Given the description of an element on the screen output the (x, y) to click on. 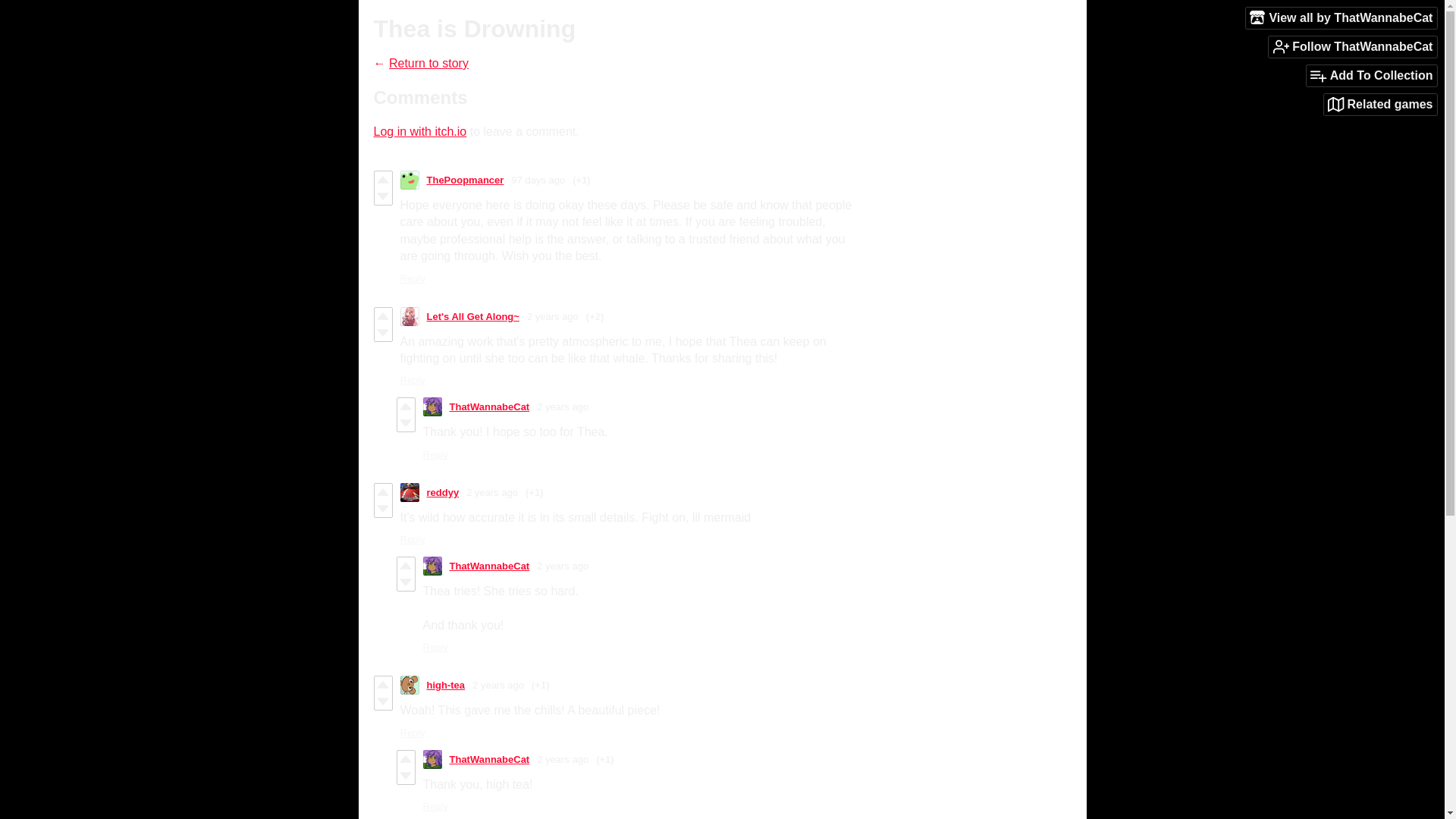
Reply (435, 454)
2 years ago (491, 491)
Follow ThatWannabeCat (1352, 46)
Vote down (382, 196)
View all by ThatWannabeCat (1340, 17)
Vote down (382, 701)
Vote up (382, 179)
Vote up (382, 492)
2021-11-30 00:43:22 (562, 565)
Reply (435, 646)
Vote up (382, 315)
2024-04-10 09:18:03 (537, 179)
Reply (412, 539)
Vote up (405, 406)
2022-04-01 09:07:34 (552, 316)
